Given the description of an element on the screen output the (x, y) to click on. 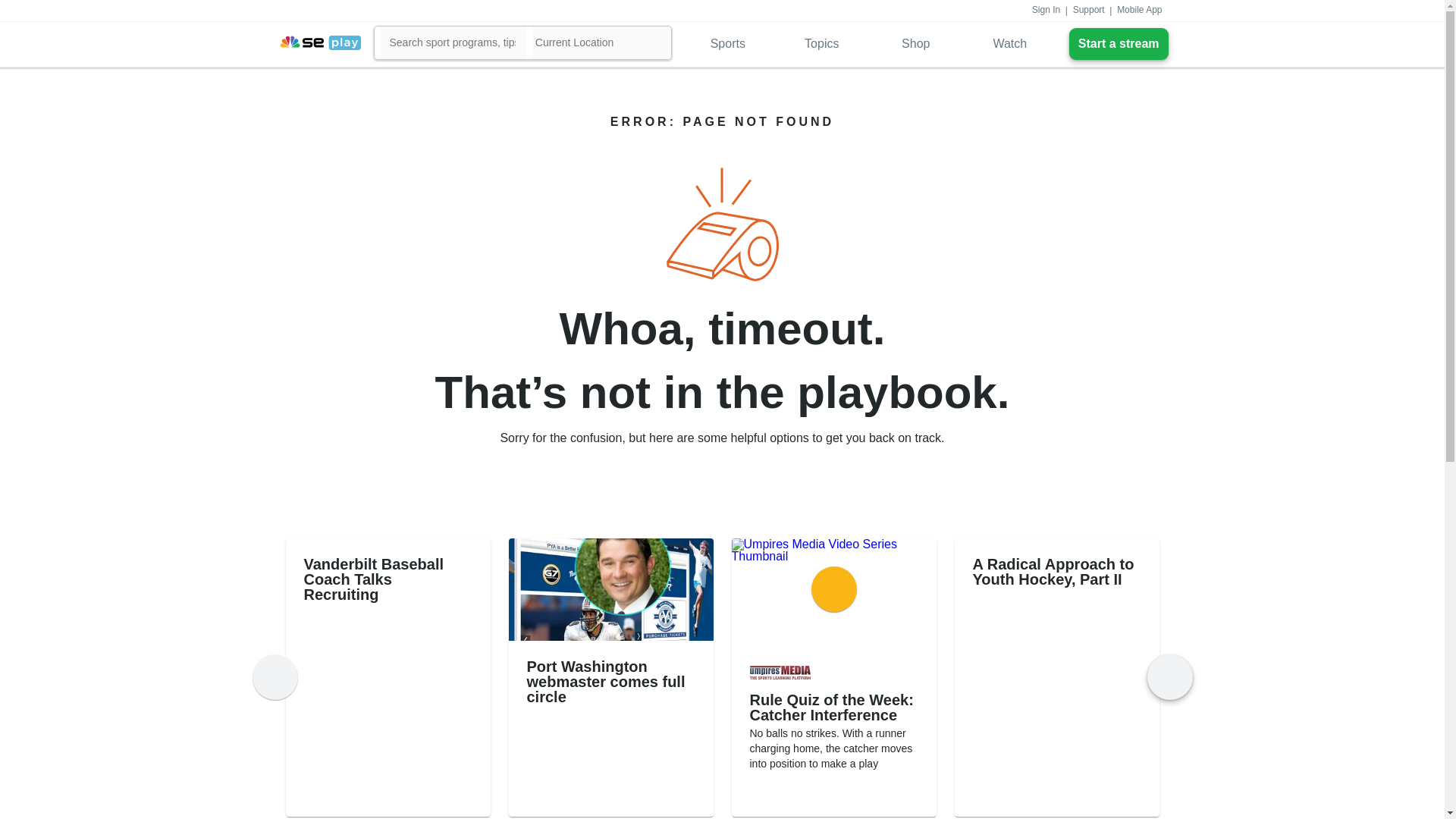
Mobile App (1138, 10)
Support (1089, 10)
Sign In (1045, 10)
